Given the description of an element on the screen output the (x, y) to click on. 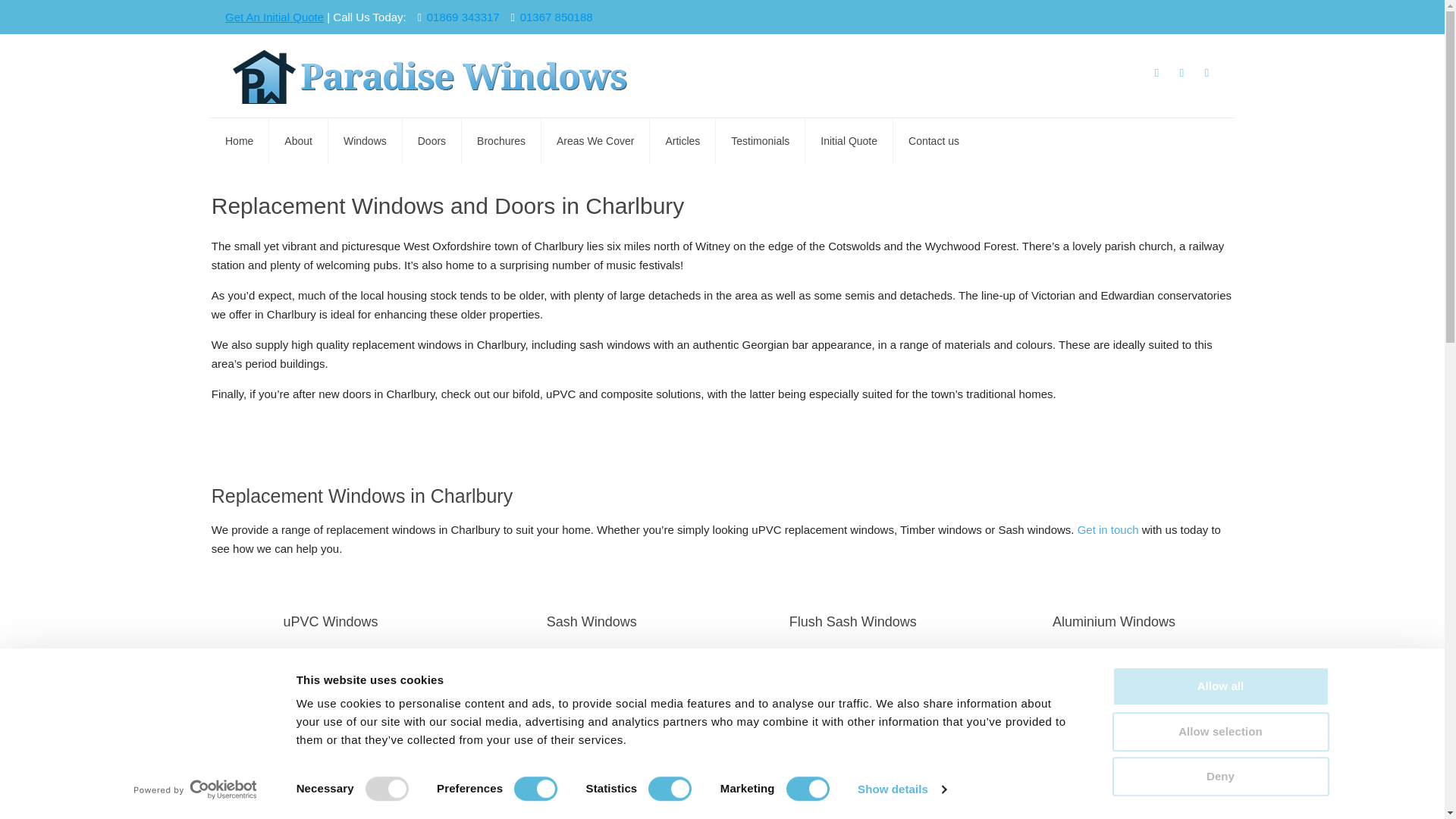
Paradise Windows (437, 75)
01367 850188 (555, 16)
LinkedIn (1198, 16)
sash-windows (577, 711)
Allow all (1219, 685)
Deny (1219, 776)
Allow selection (1219, 731)
01869 343317 (462, 16)
Facebook (1182, 16)
Doors (330, 716)
aluminium-windows (1100, 711)
Show details (900, 789)
Instagram (1214, 16)
Get An Initial Quote (274, 16)
